Given the description of an element on the screen output the (x, y) to click on. 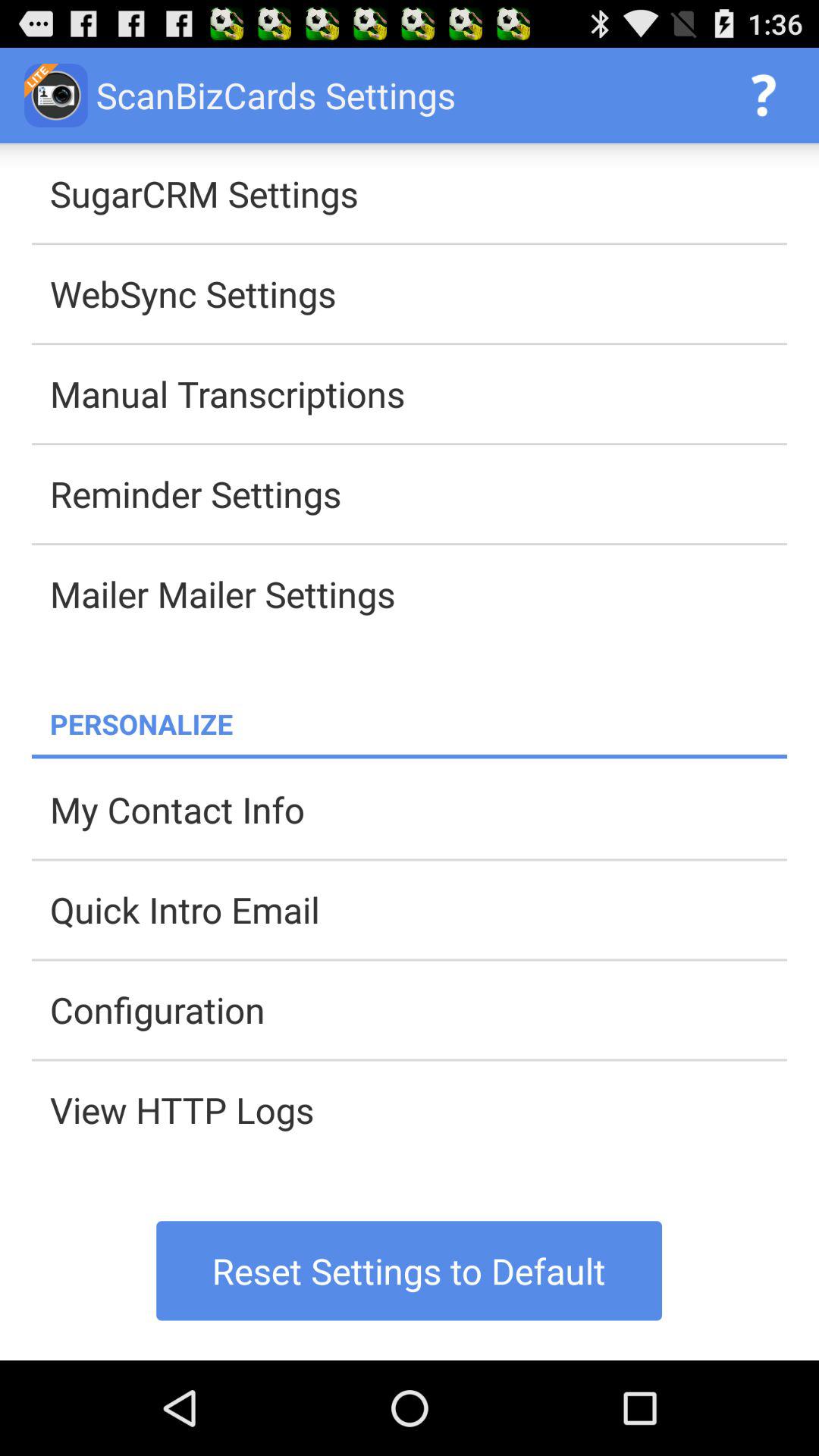
swipe until my contact info app (418, 809)
